Given the description of an element on the screen output the (x, y) to click on. 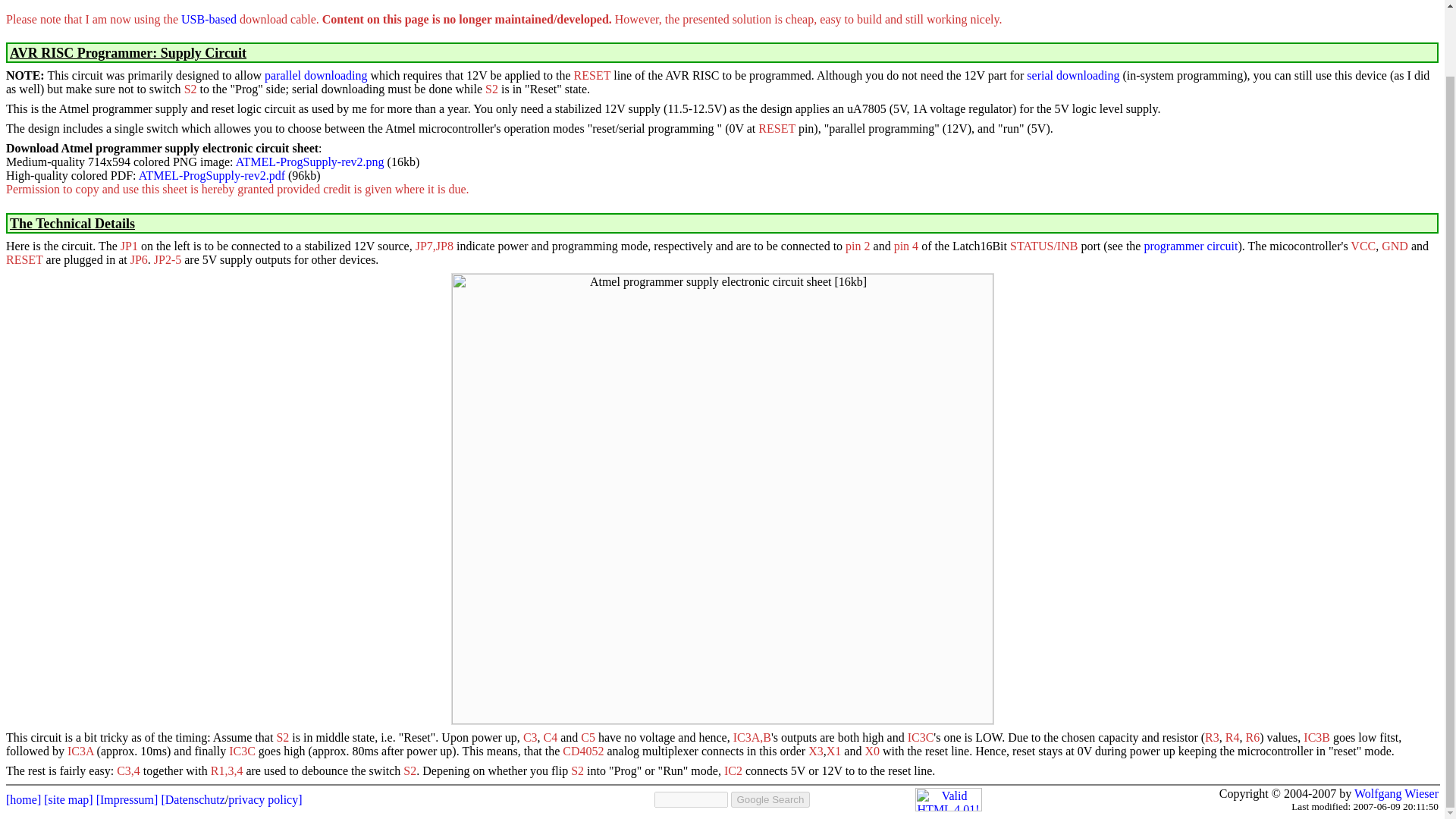
ATMEL-ProgSupply-rev2.png (309, 161)
ATMEL-ProgSupply-rev2.pdf (211, 174)
Google Search (770, 799)
parallel downloading (316, 74)
programmer circuit (1189, 245)
Wolfgang Wieser (1396, 793)
Google Search (770, 799)
USB-based (207, 19)
serial downloading (1072, 74)
